Given the description of an element on the screen output the (x, y) to click on. 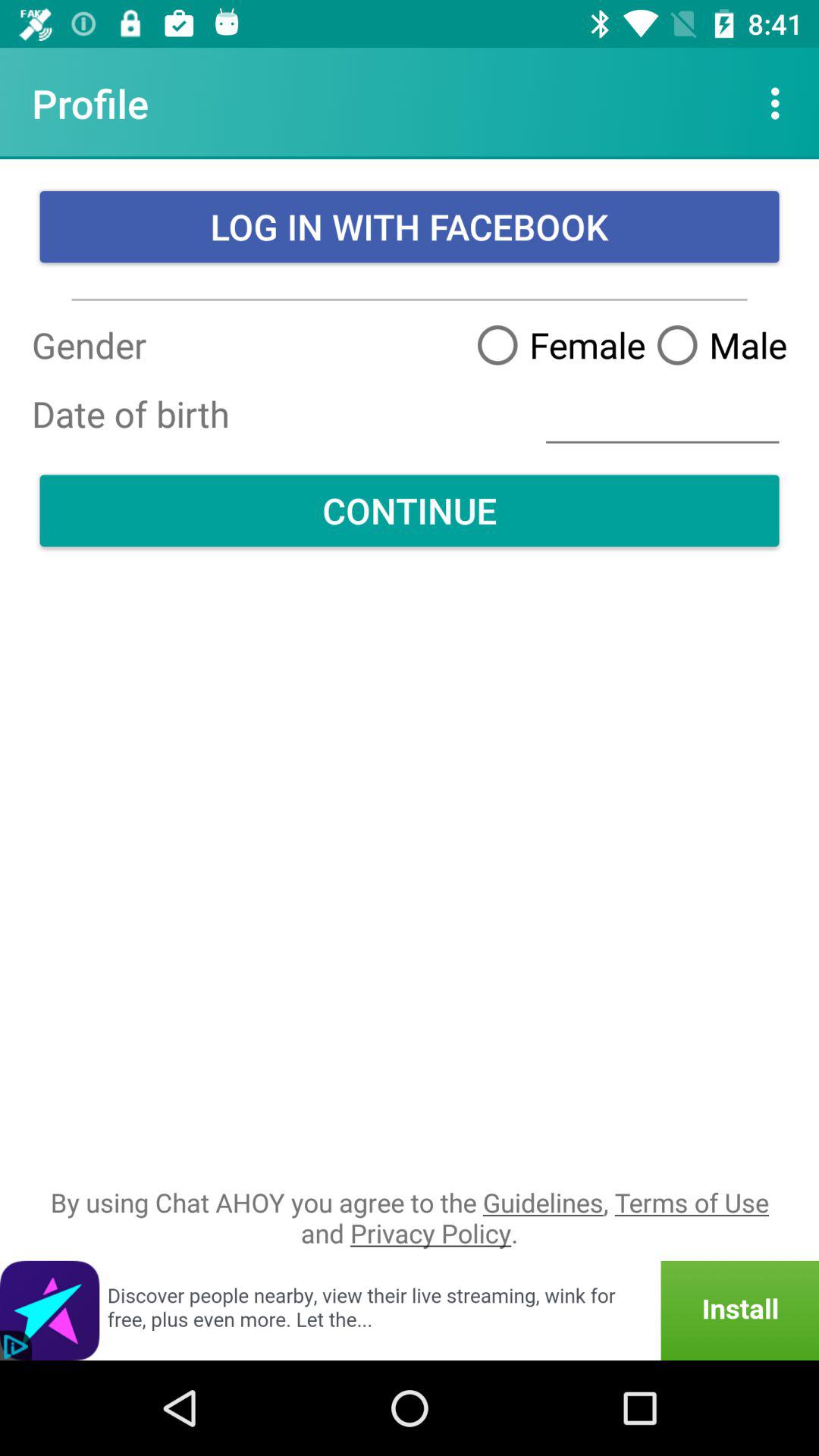
press the log in with (409, 226)
